Given the description of an element on the screen output the (x, y) to click on. 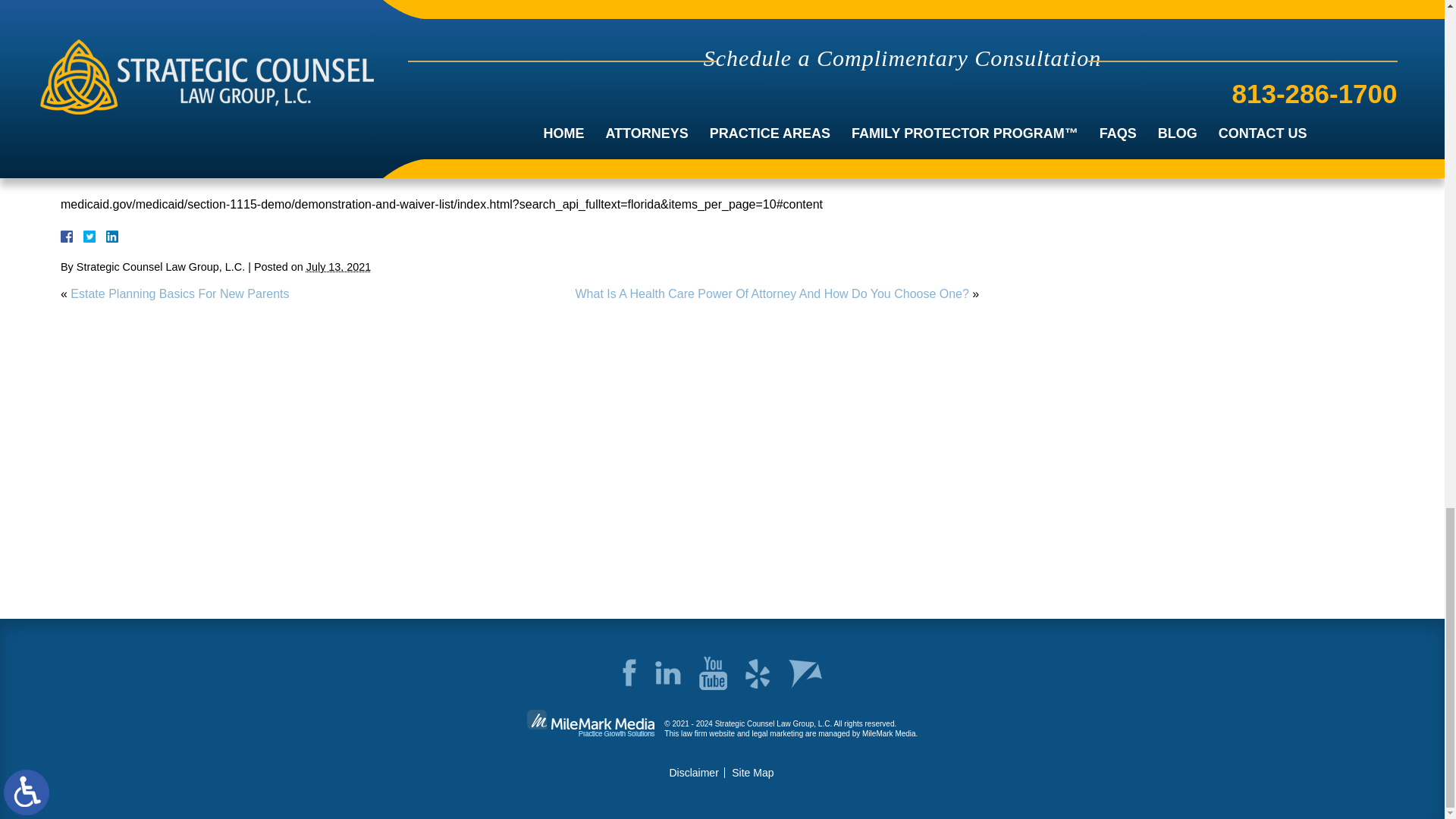
2021-07-13T03:00:07-0700 (338, 266)
Facebook (85, 236)
LinkedIn (106, 236)
Twitter (95, 236)
